Given the description of an element on the screen output the (x, y) to click on. 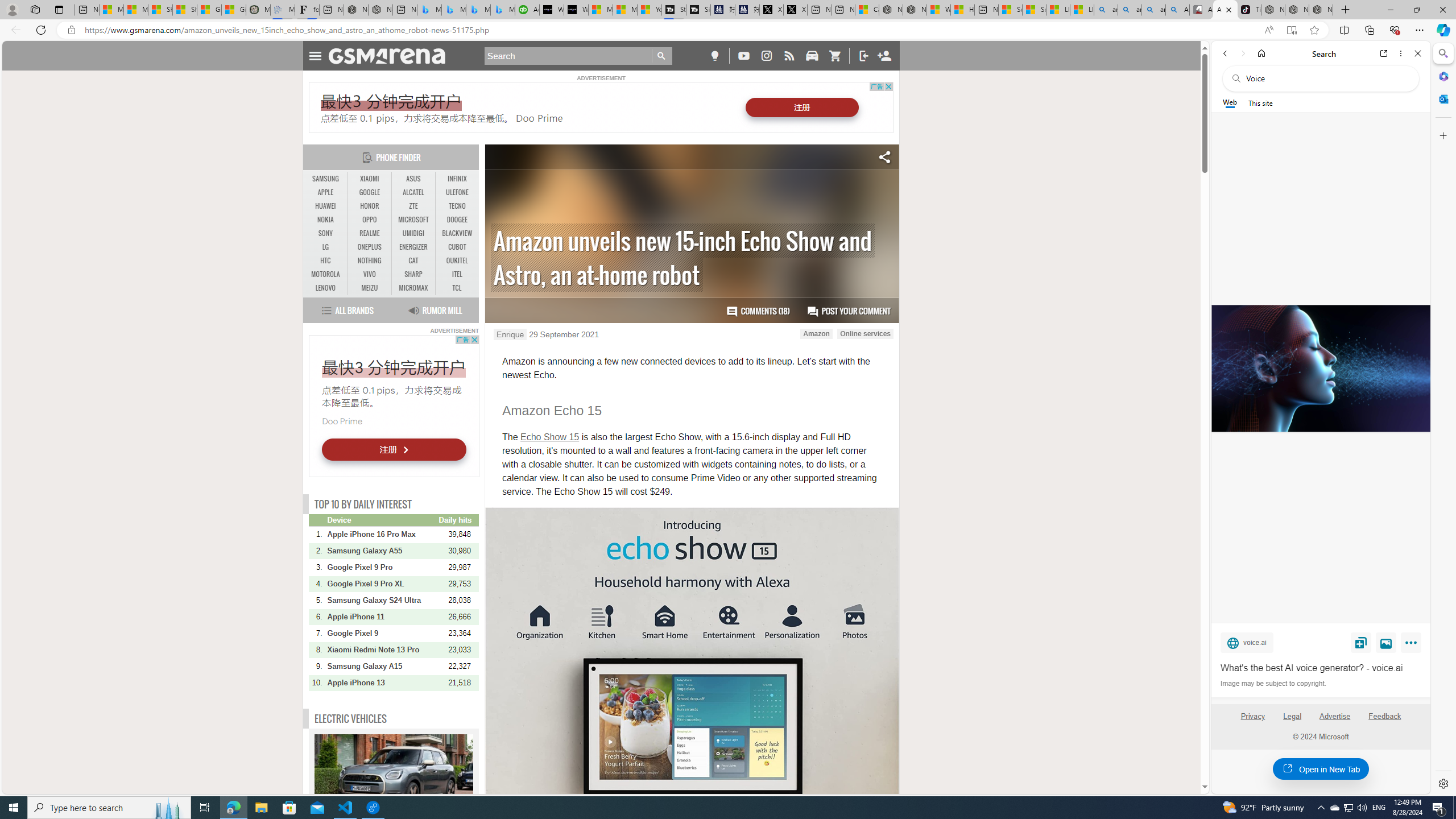
Google Pixel 9 (381, 633)
CAT (413, 260)
NOKIA (325, 219)
HUAWEI (325, 206)
Open in New Tab (1321, 768)
Nordace Siena Pro 15 Backpack (1296, 9)
Nordace - Best Sellers (1273, 9)
LG (325, 246)
CUBOT (457, 246)
Save (1361, 642)
ASUS (413, 178)
DOOGEE (457, 219)
